Given the description of an element on the screen output the (x, y) to click on. 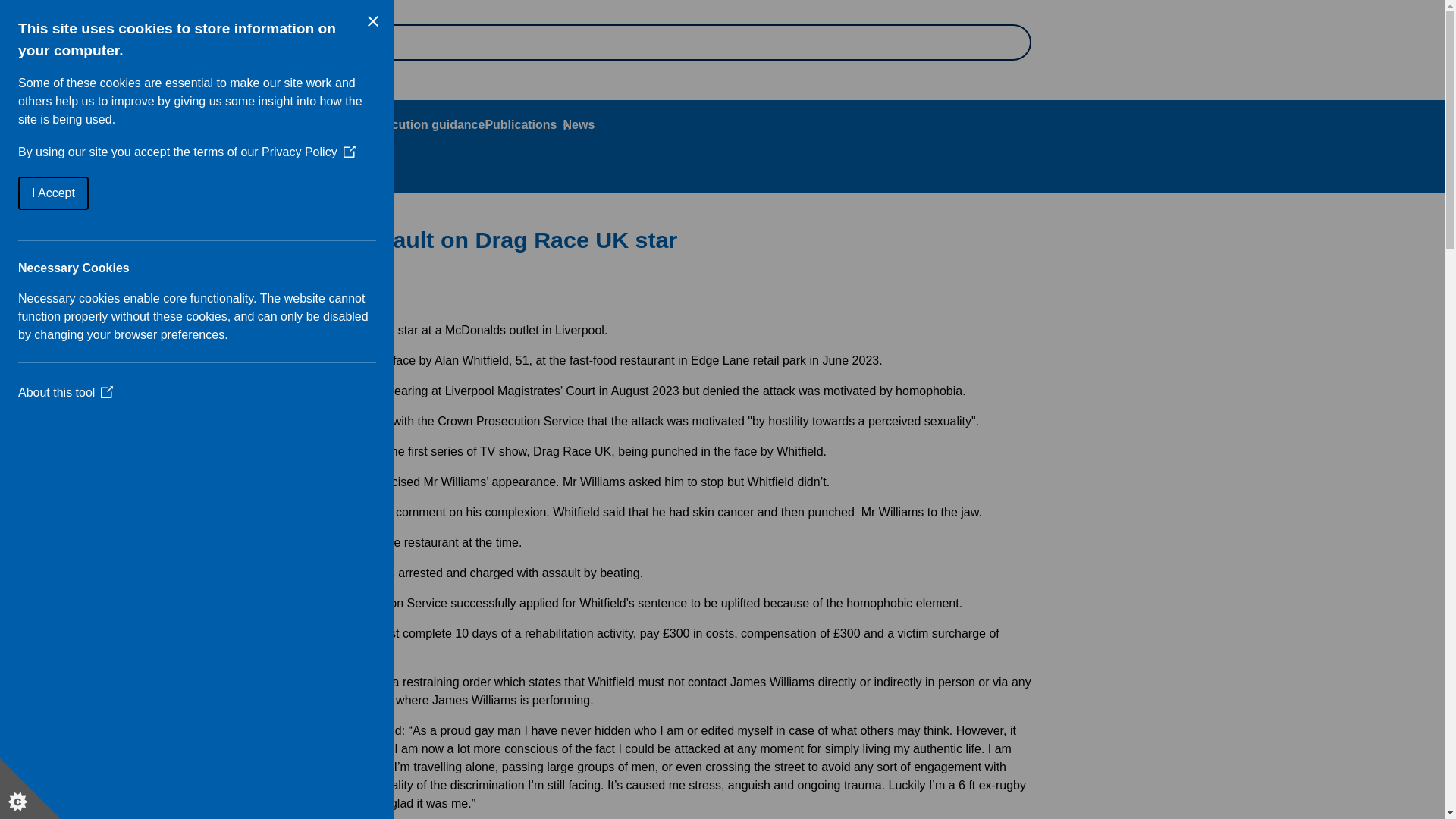
Contact (146, 78)
Switch to colour theme (61, 15)
About CPS (138, 124)
Switch to blue theme (79, 15)
Careers (51, 78)
Switch to high visibility theme (98, 15)
Crime info (205, 124)
Switch to soft theme (115, 15)
